Given the description of an element on the screen output the (x, y) to click on. 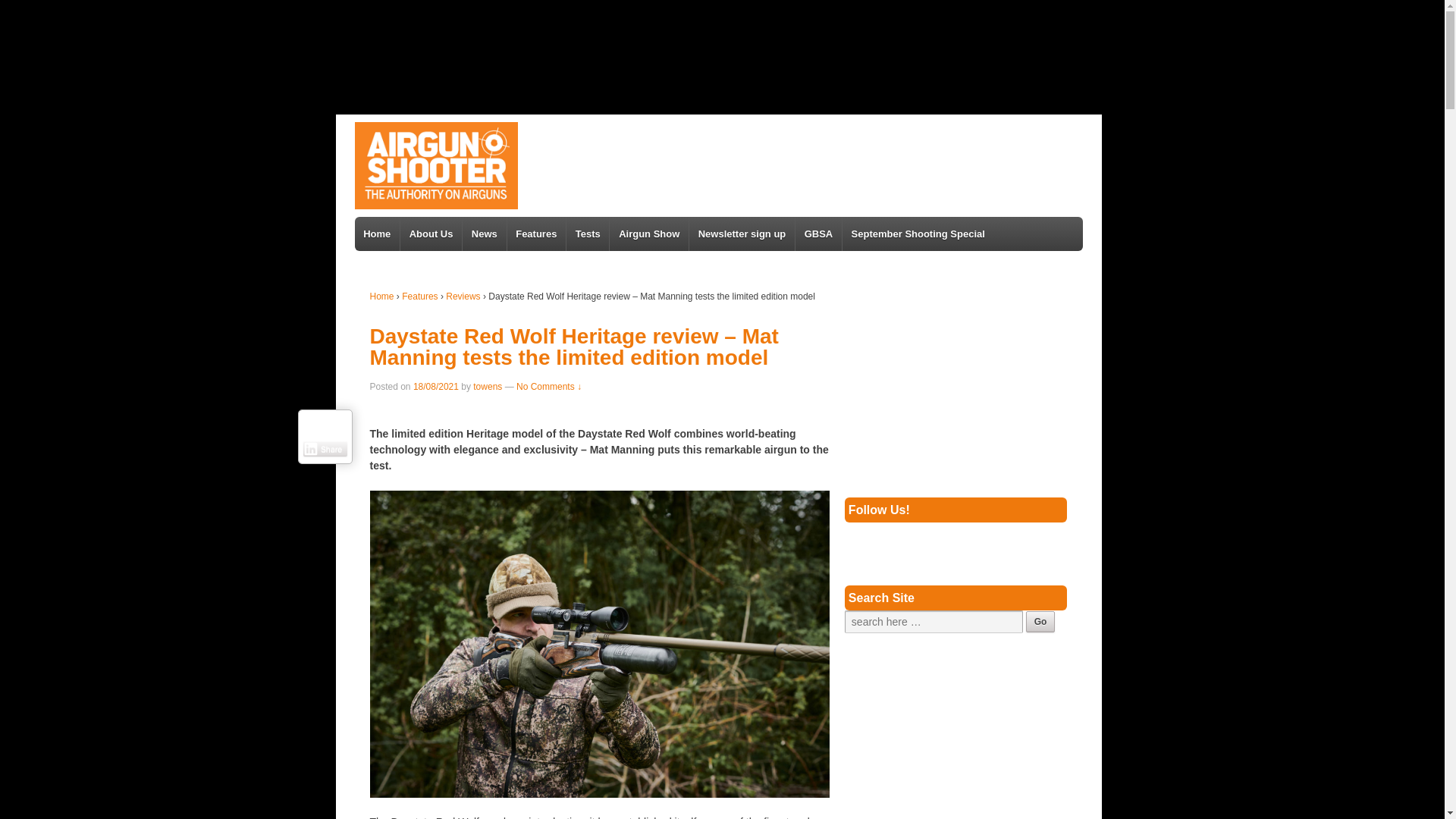
Home (377, 233)
September Shooting Special (917, 233)
Home (381, 296)
View all posts by towens (487, 386)
Reviews (462, 296)
About Us (429, 233)
7:08 pm (435, 386)
Features (419, 296)
Newsletter sign up (741, 233)
GBSA (817, 233)
Features (536, 233)
Go (1040, 621)
towens (487, 386)
Tests (587, 233)
News (483, 233)
